Given the description of an element on the screen output the (x, y) to click on. 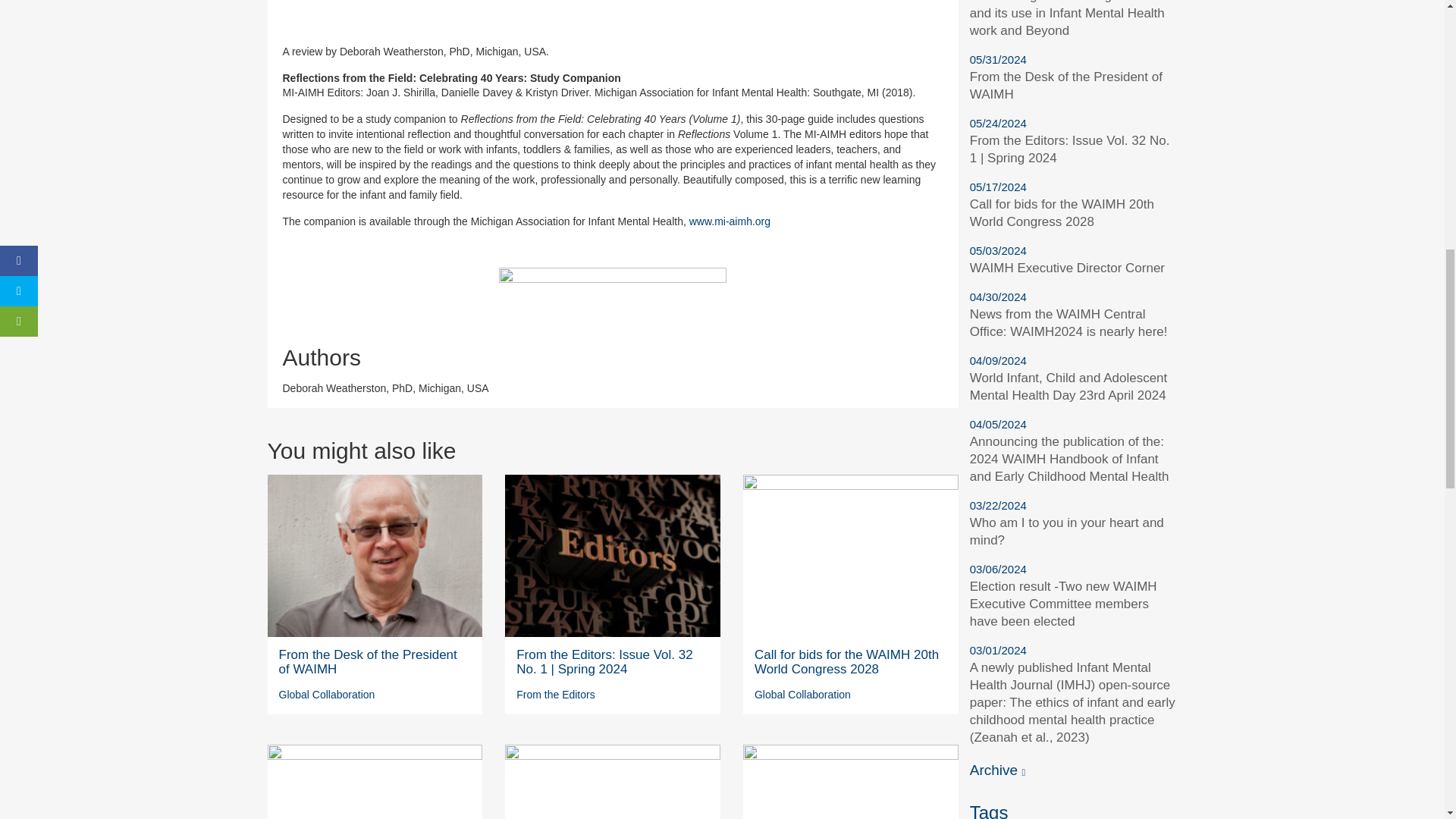
Global Collaboration (327, 694)
View all posts in From the Editors (555, 694)
View all posts in Global Collaboration (802, 694)
From the Editors (555, 694)
Call for bids for the WAIMH 20th World Congress 2028 (846, 661)
Global Collaboration (802, 694)
View all posts in Global Collaboration (327, 694)
www.mi-aimh.org (729, 221)
From the Desk of the President of WAIMH (368, 661)
